Given the description of an element on the screen output the (x, y) to click on. 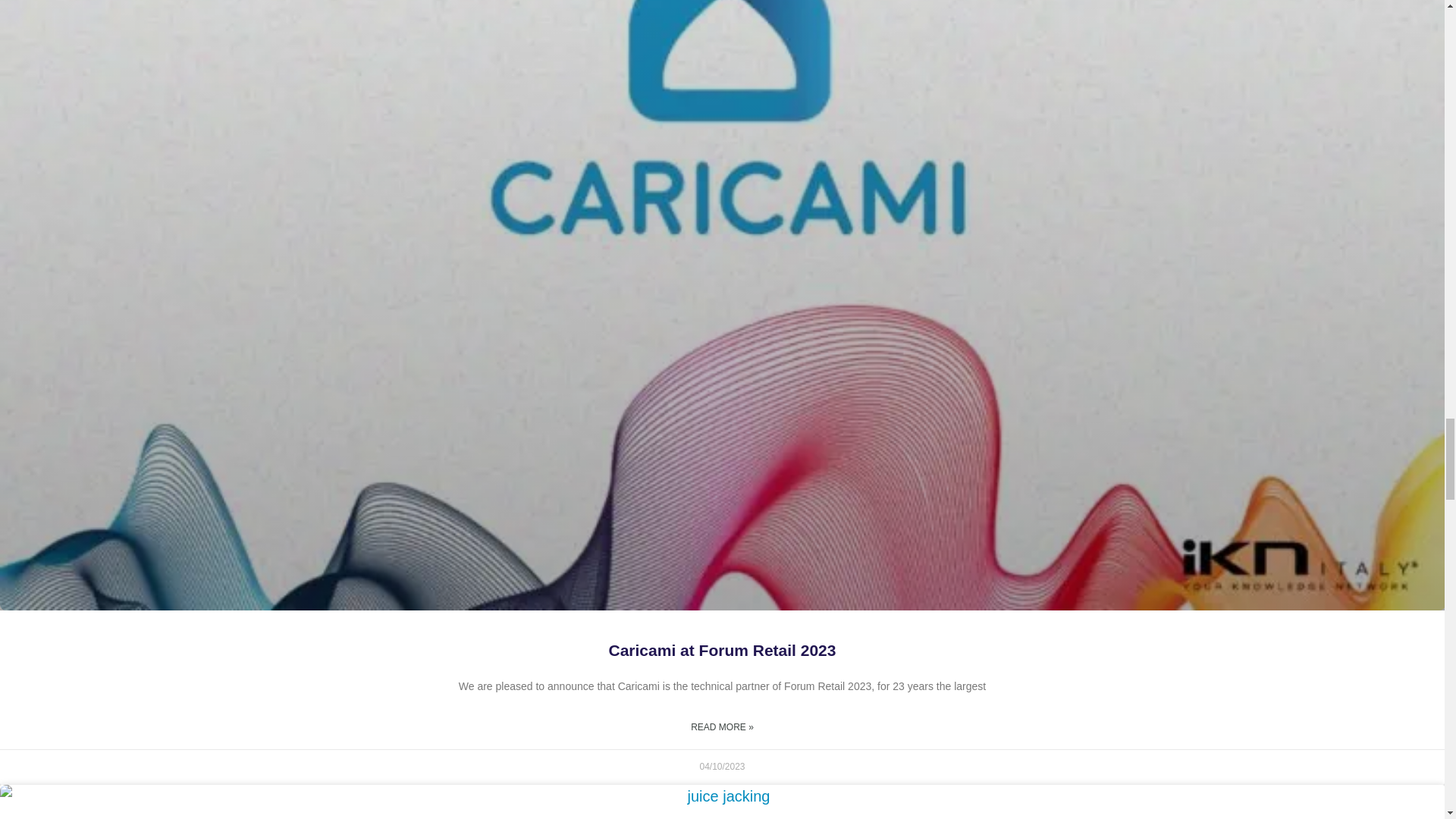
Caricami at Forum Retail 2023 (721, 650)
